Given the description of an element on the screen output the (x, y) to click on. 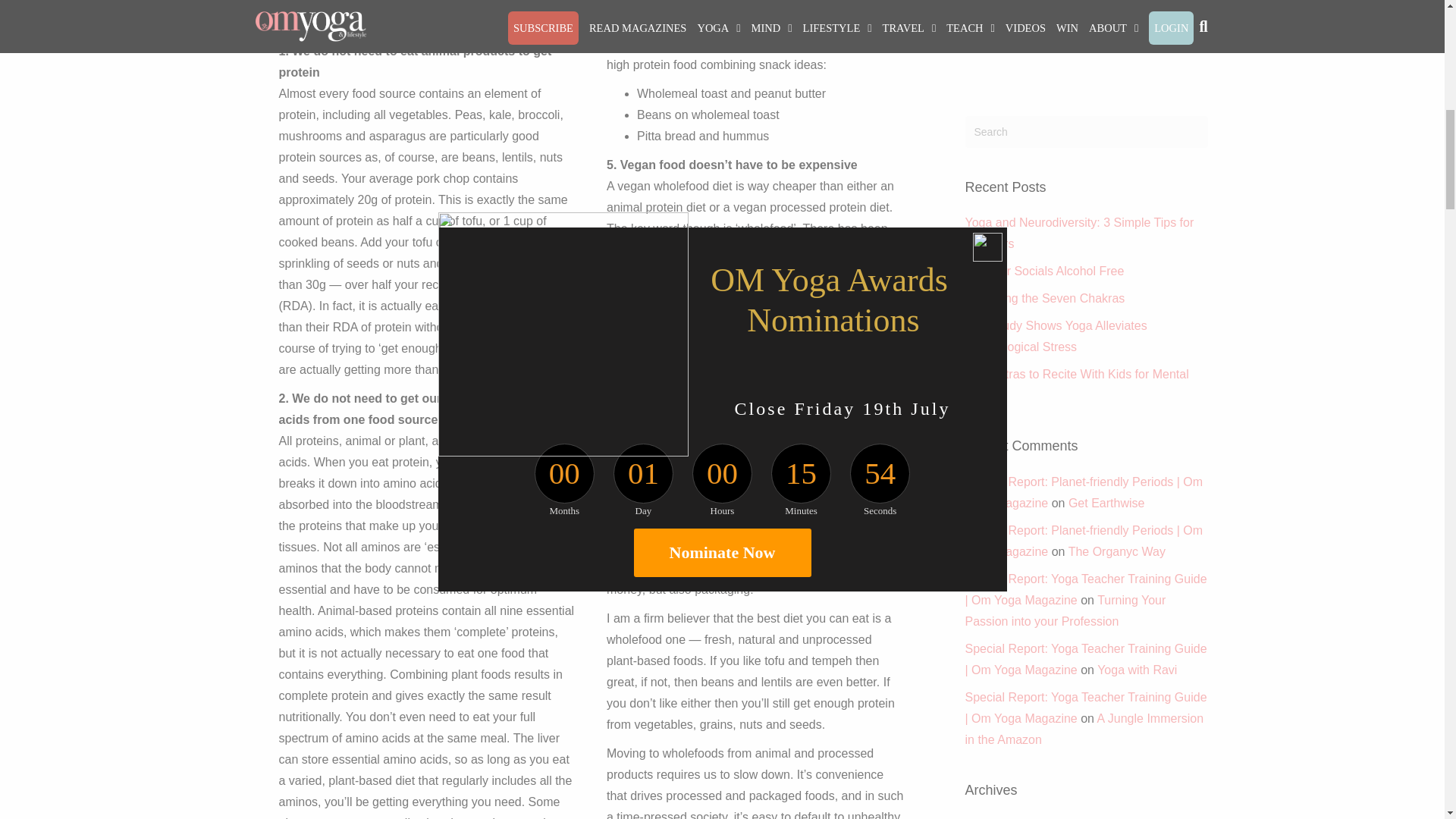
Type and press Enter to search. (1085, 132)
